Given the description of an element on the screen output the (x, y) to click on. 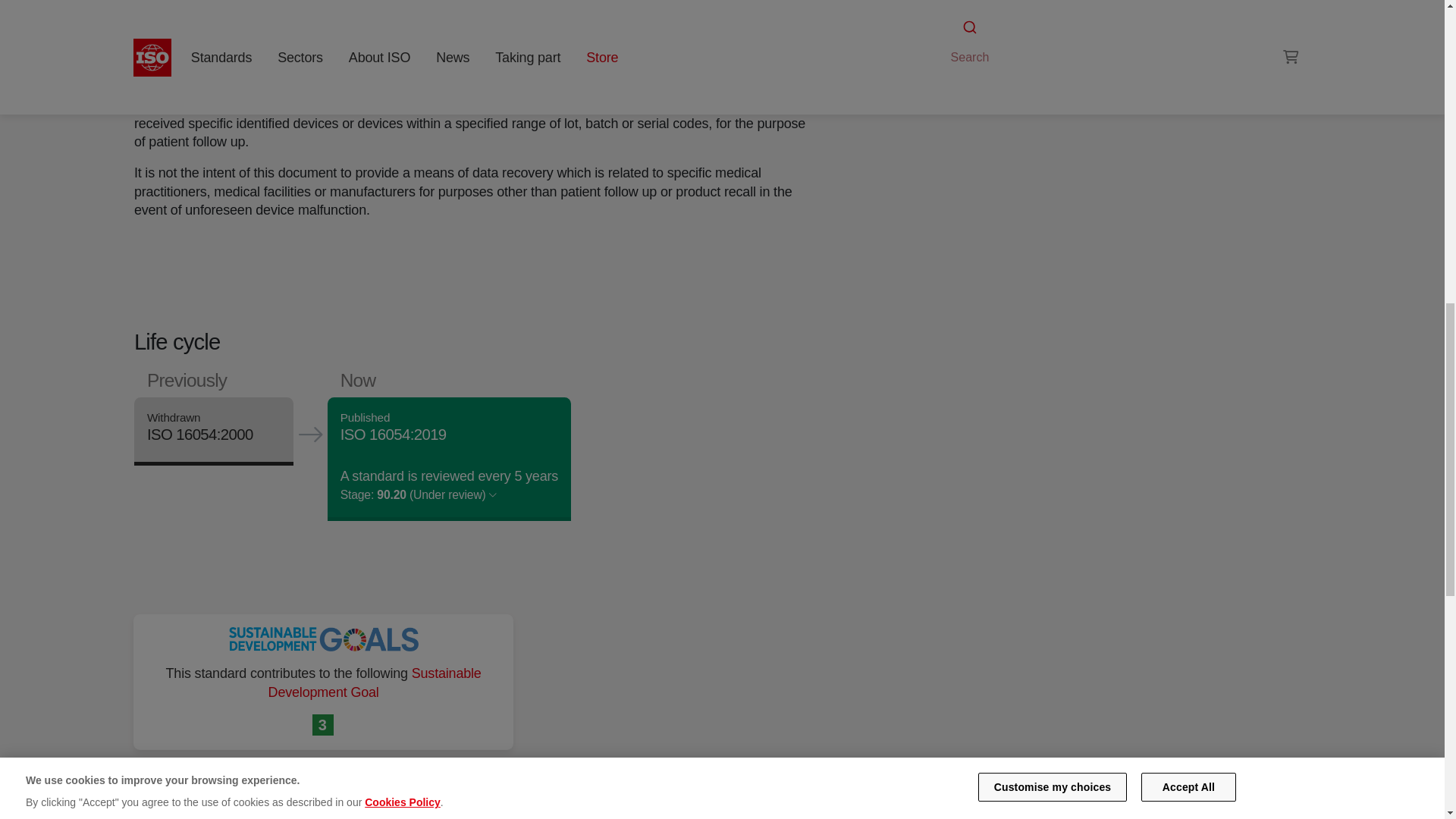
Good Health and Well-being (323, 725)
RSS (956, 70)
11.040.40 (997, 40)
Implants for surgery (1104, 22)
Implants for surgery, prosthetics and orthotics (997, 40)
